Given the description of an element on the screen output the (x, y) to click on. 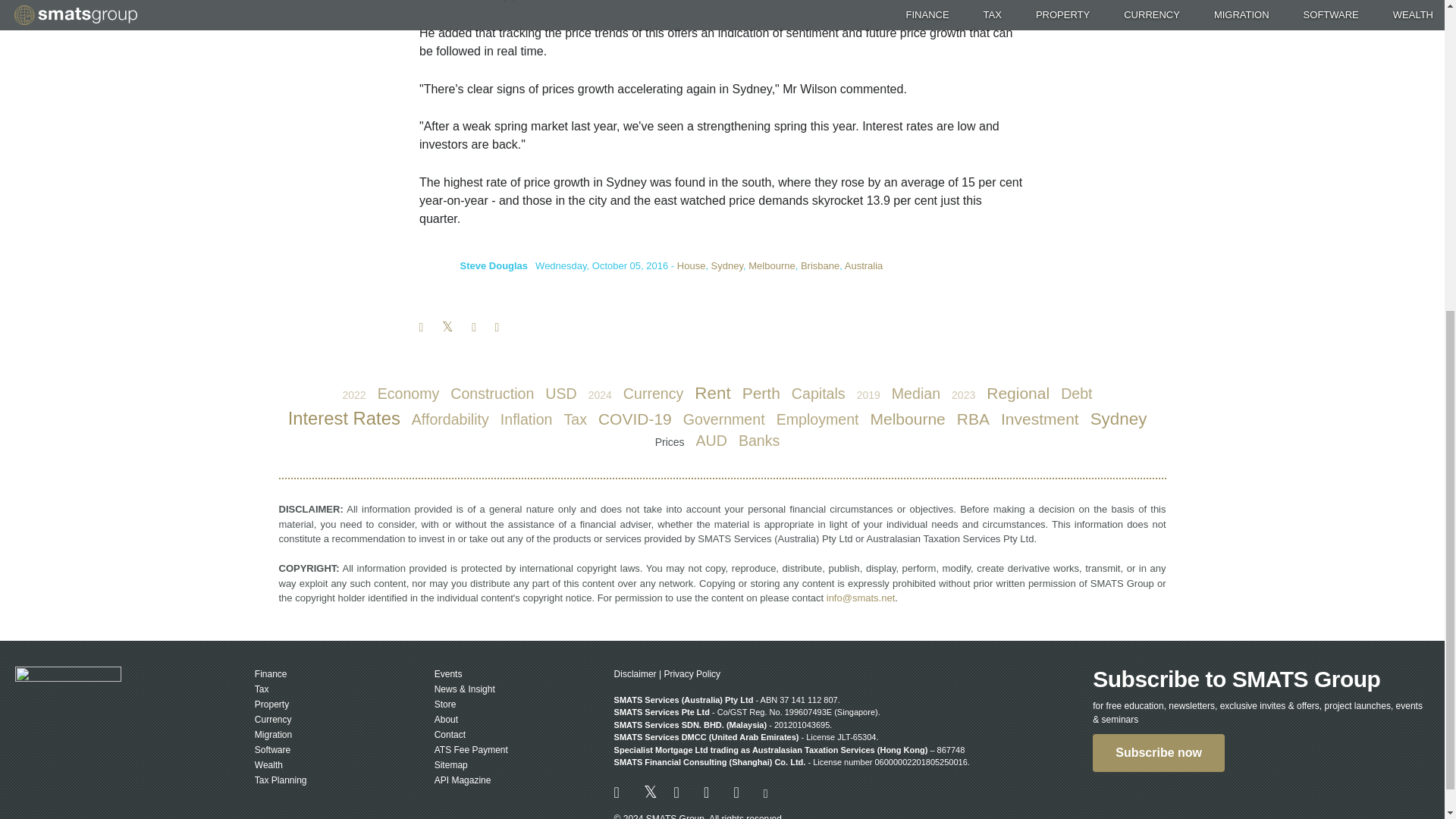
currency (653, 393)
2024 (600, 394)
2022 (353, 394)
Construction (491, 393)
2024 (600, 394)
Melbourne (771, 265)
rent (712, 392)
economy (409, 393)
USD (560, 393)
Brisbane (820, 265)
